Given the description of an element on the screen output the (x, y) to click on. 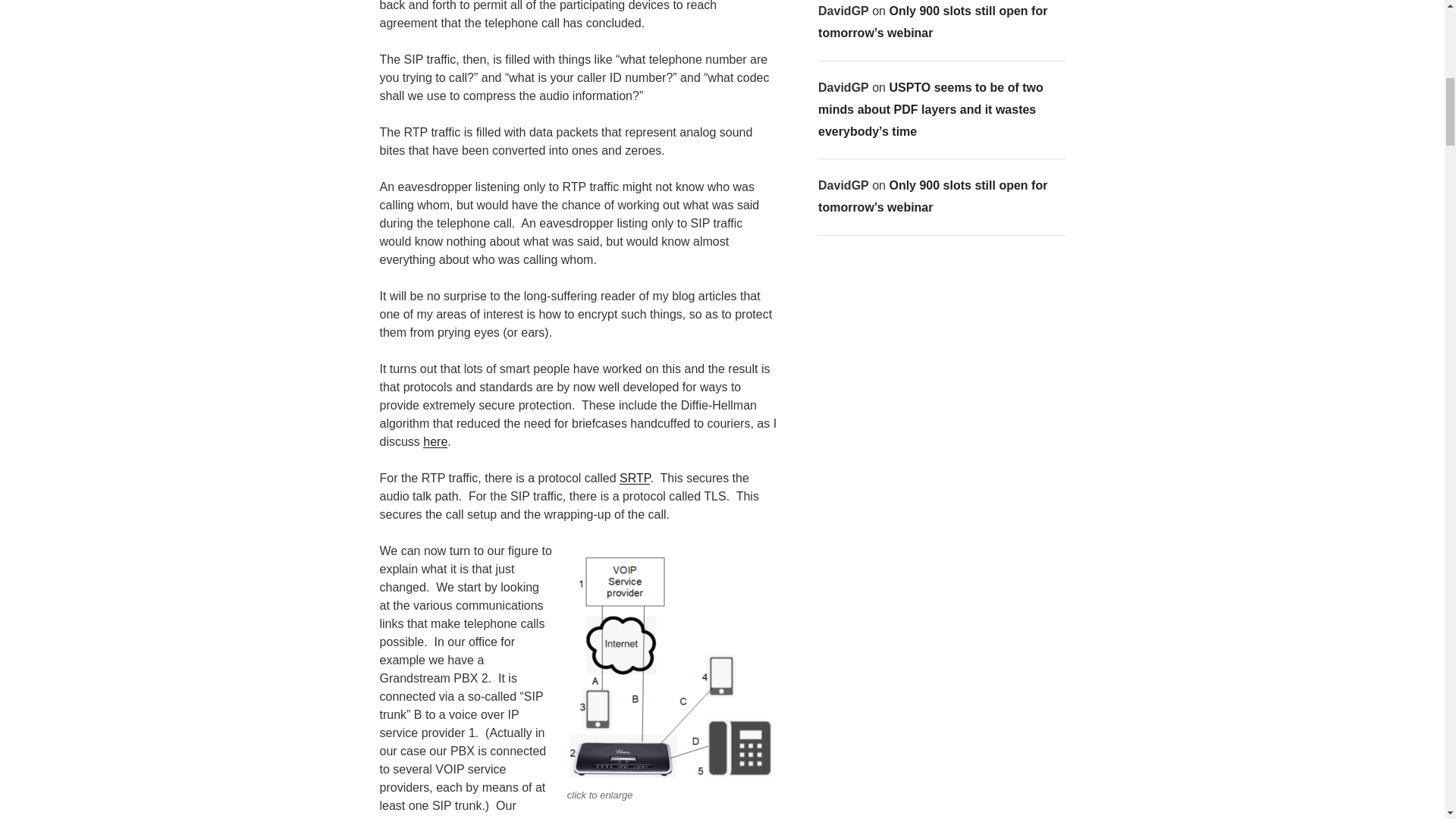
here (434, 440)
SRTP (634, 477)
